Given the description of an element on the screen output the (x, y) to click on. 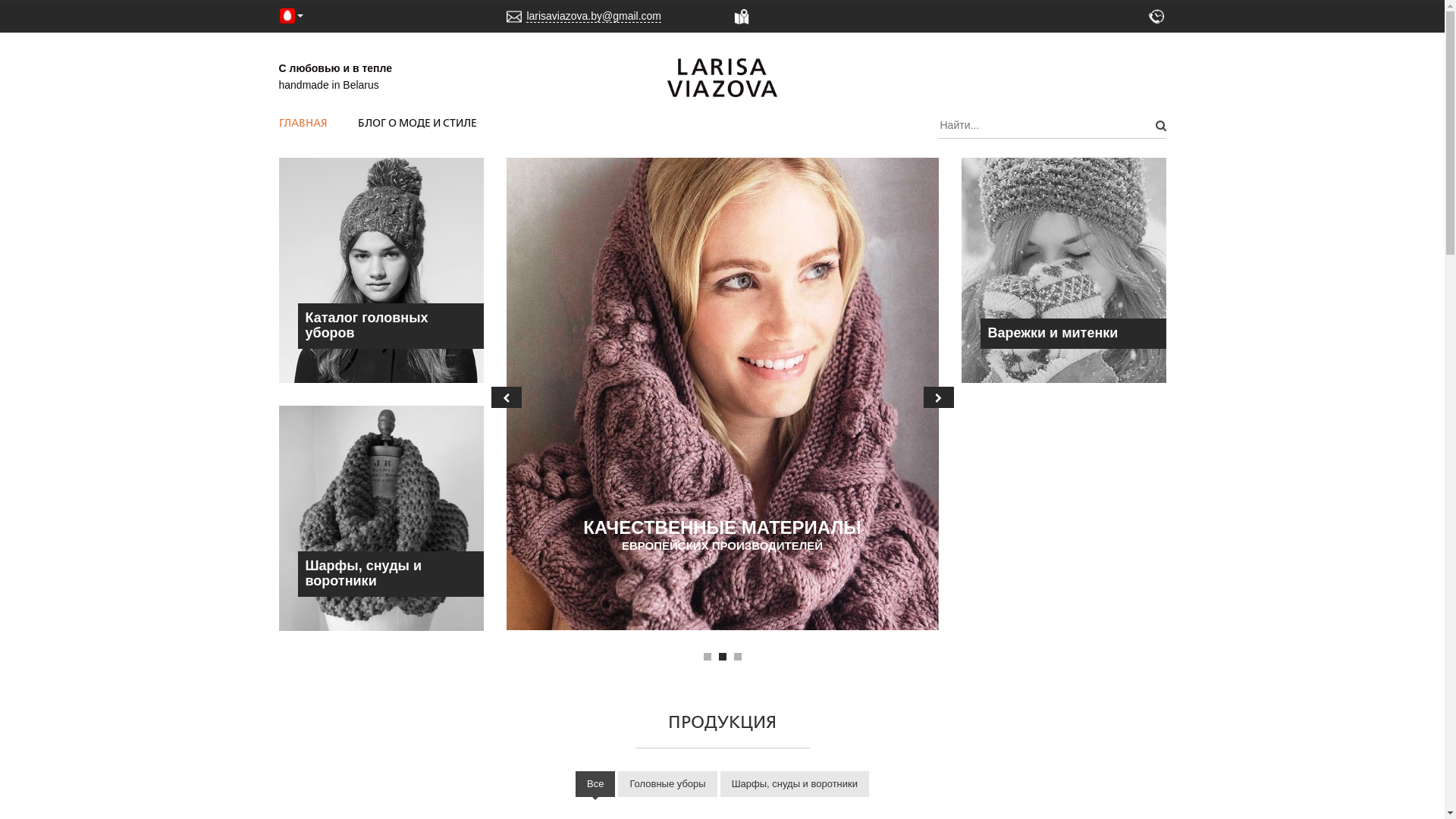
2 Element type: text (722, 656)
Previous Element type: text (506, 396)
larisaviazova.by@gmail.com Element type: text (593, 15)
Next Element type: text (938, 396)
1 Element type: text (707, 656)
3 Element type: text (737, 656)
